Given the description of an element on the screen output the (x, y) to click on. 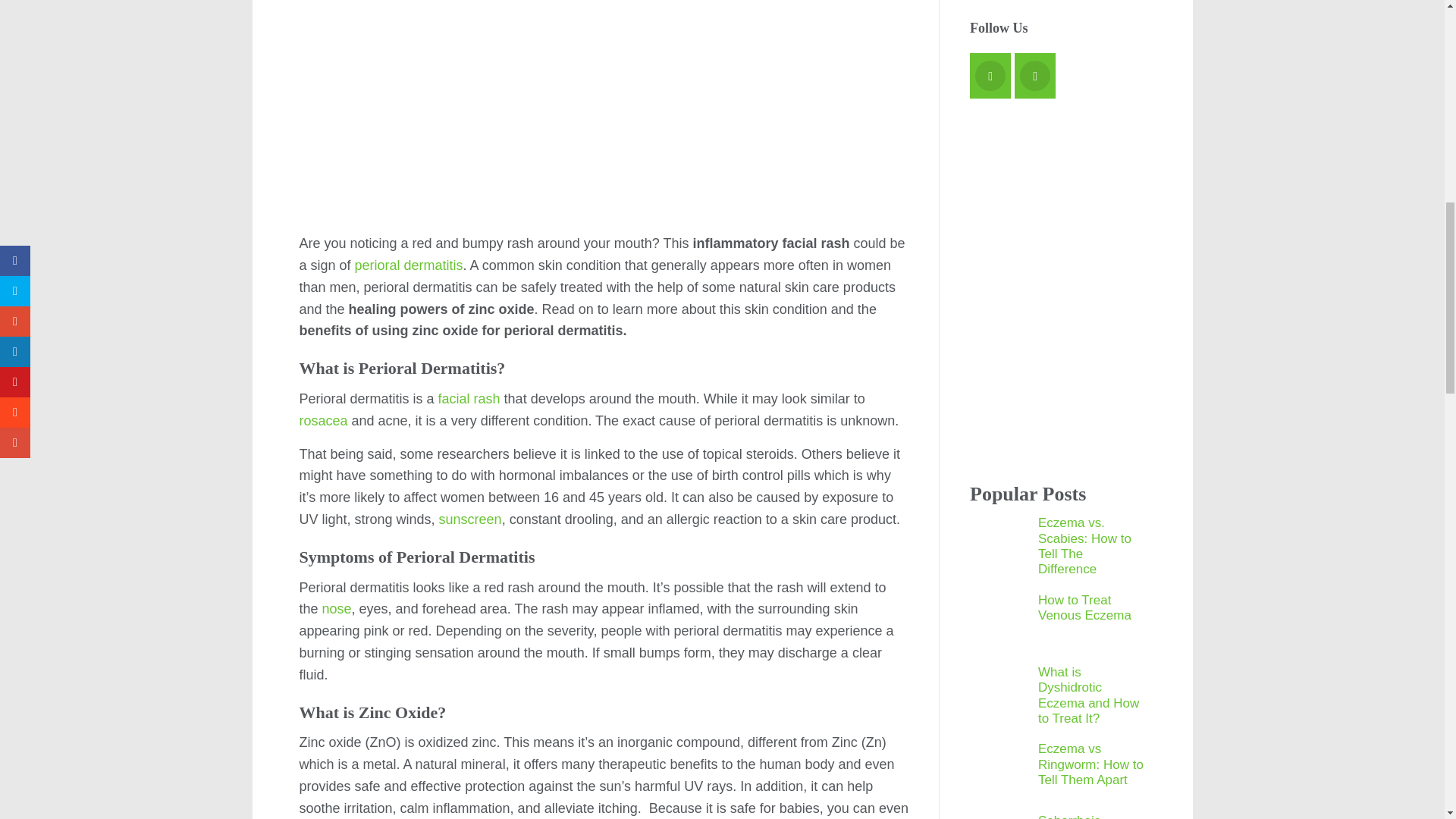
perioral dermatitis (409, 264)
facial rash (469, 398)
rosacea (322, 420)
